Given the description of an element on the screen output the (x, y) to click on. 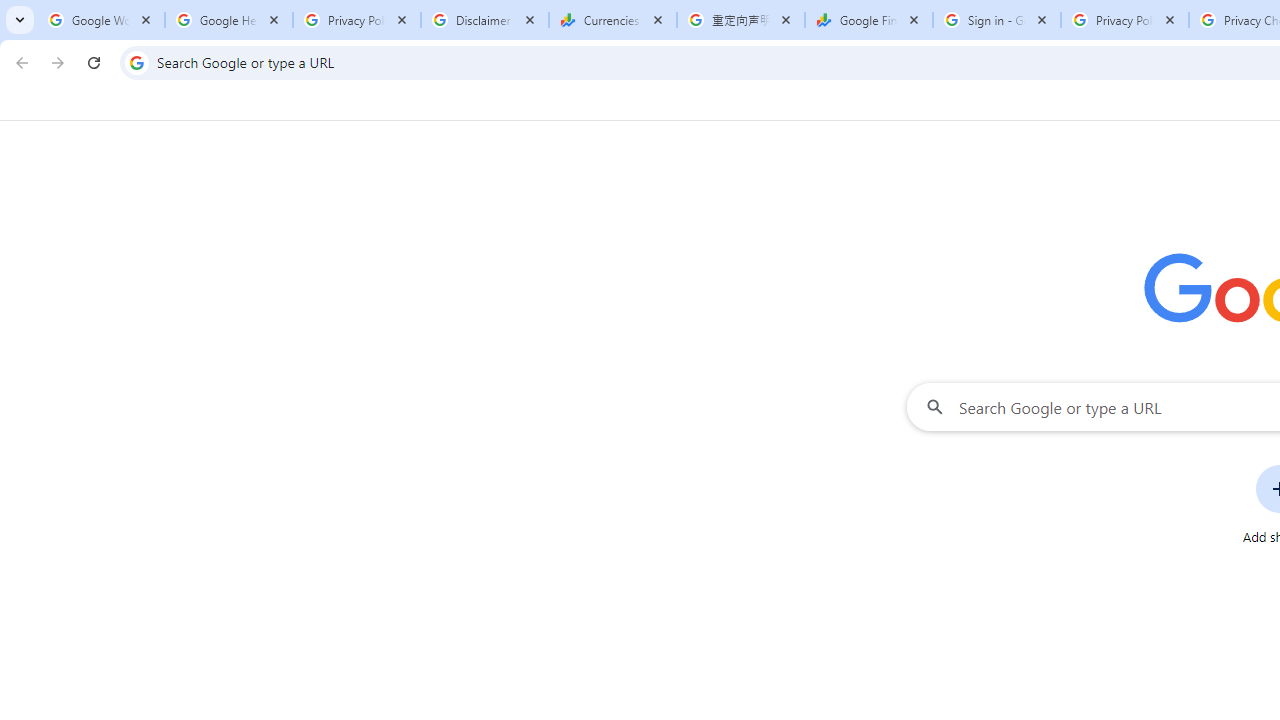
Currencies - Google Finance (613, 20)
